Given the description of an element on the screen output the (x, y) to click on. 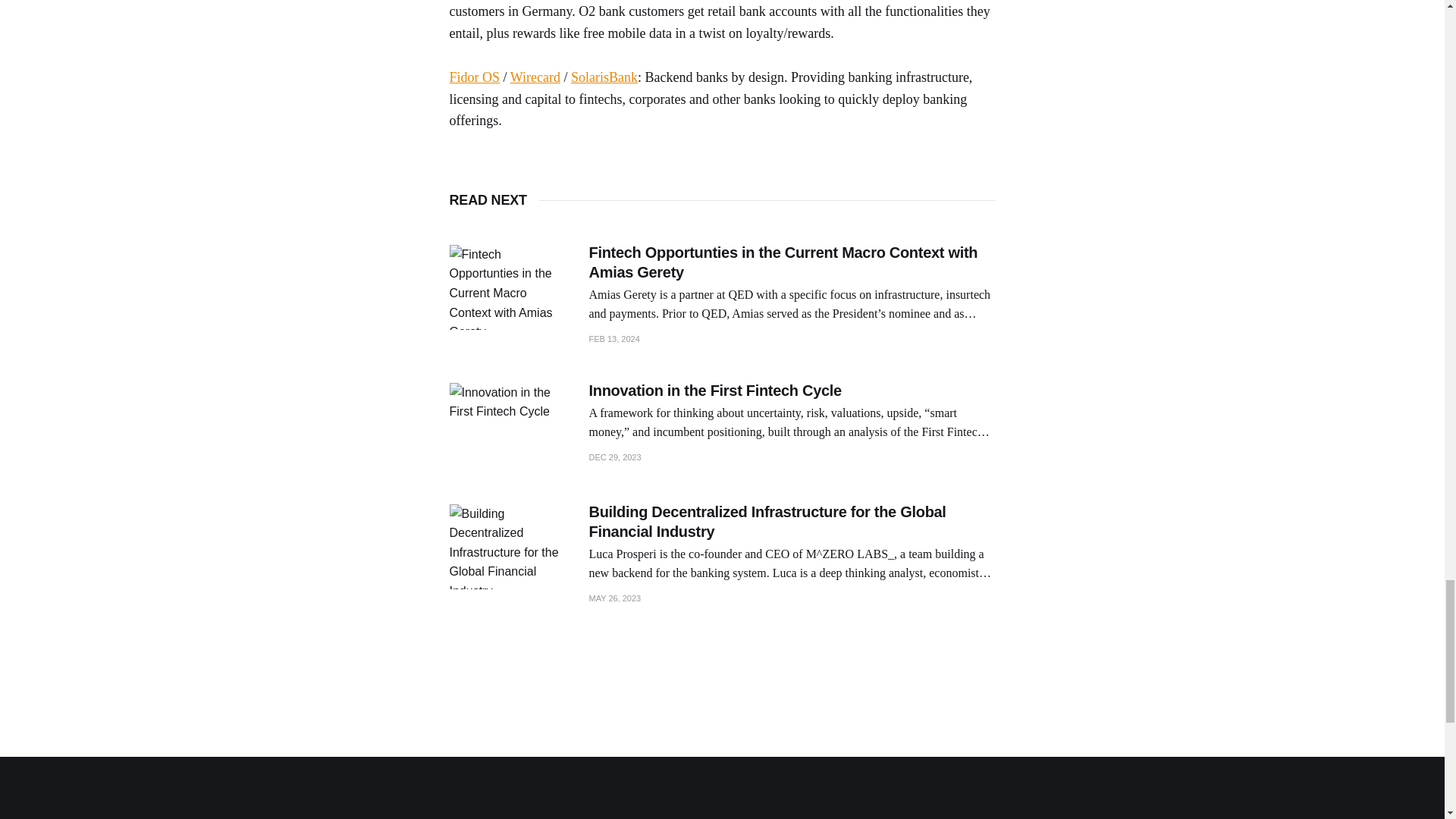
Fidor OS (473, 77)
SolarisBank (603, 77)
Wirecard (535, 77)
